Given the description of an element on the screen output the (x, y) to click on. 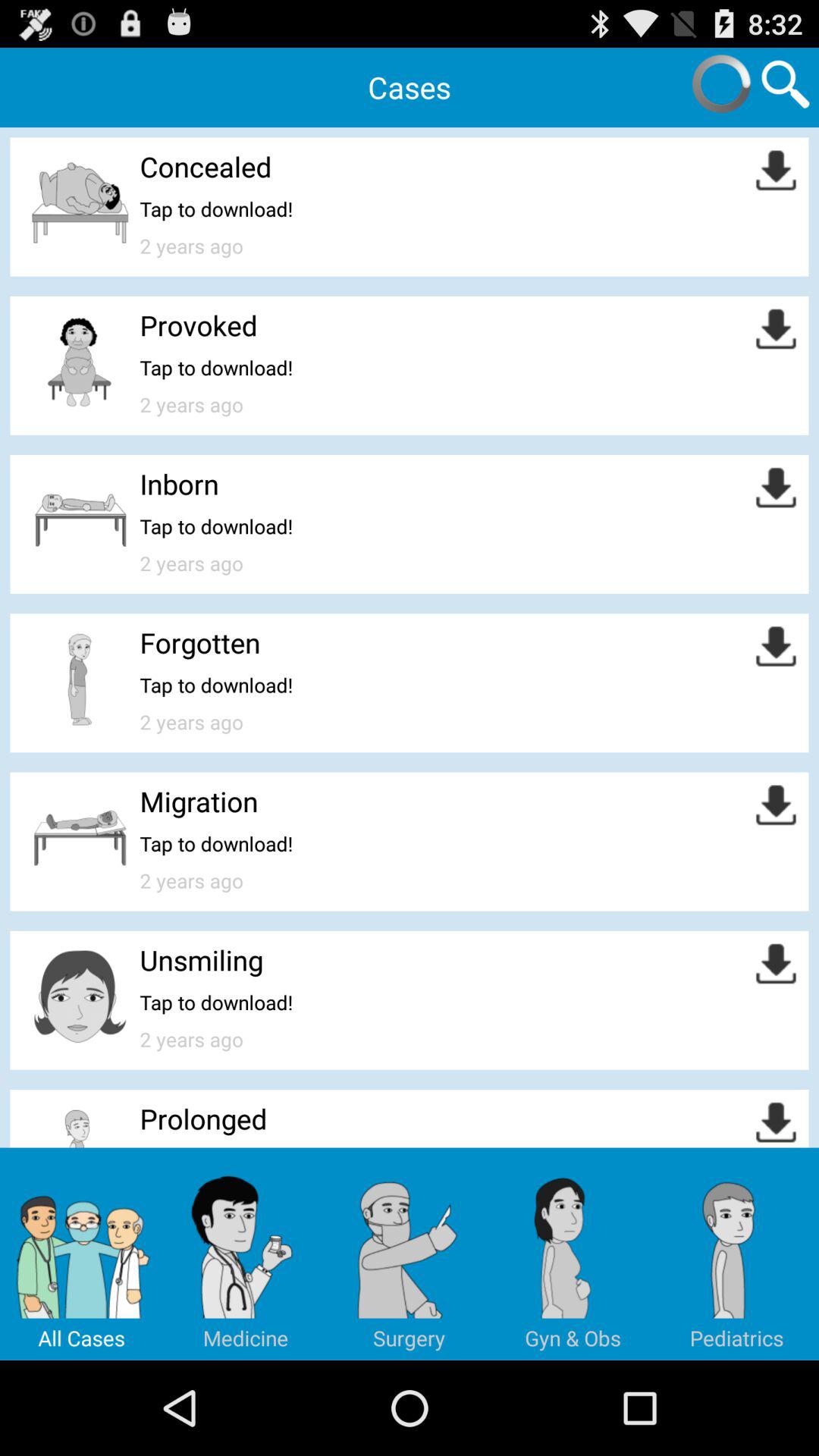
open app below the prolonged app (245, 1253)
